Given the description of an element on the screen output the (x, y) to click on. 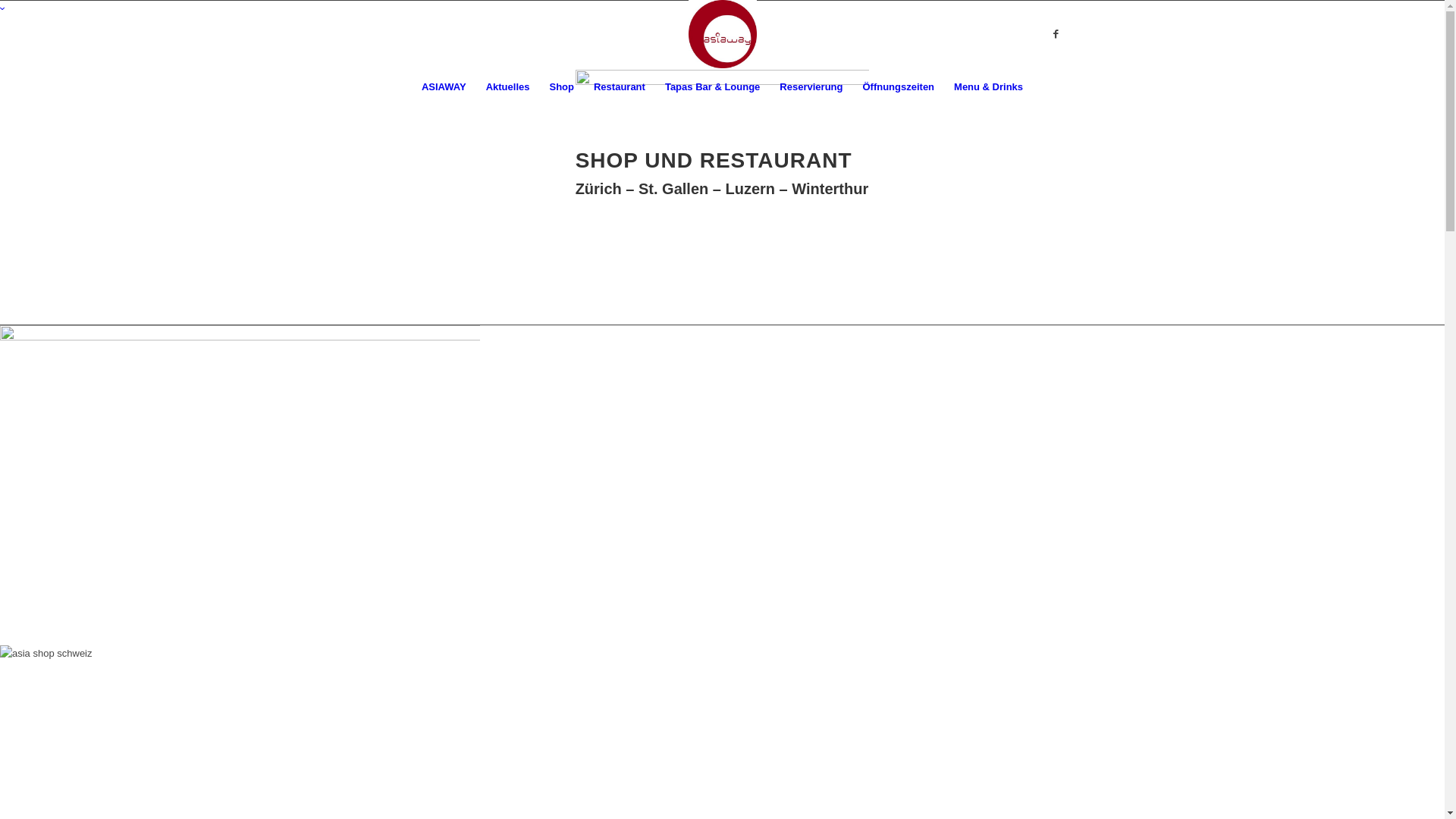
Aktuelles Element type: text (507, 87)
Reservierung Element type: text (810, 87)
Restaurant Element type: text (619, 87)
Tapas Bar & Lounge Element type: text (712, 87)
awre Element type: hover (722, 109)
ASIAWAY Element type: text (443, 87)
asiaway Element type: hover (240, 485)
Menu & Drinks Element type: text (988, 87)
Facebook Element type: hover (1055, 33)
Shop Element type: text (561, 87)
